Given the description of an element on the screen output the (x, y) to click on. 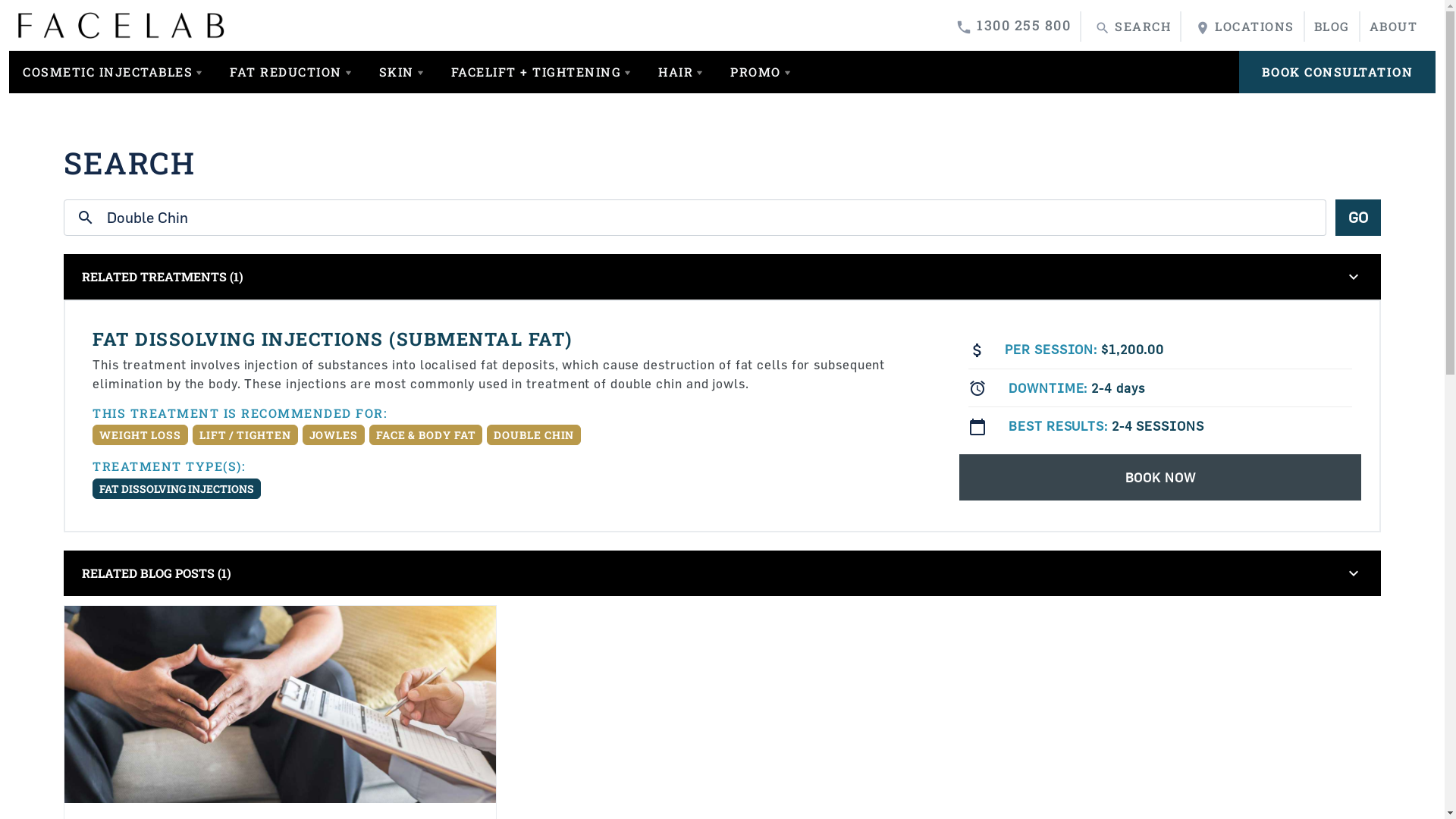
searchSEARCH Element type: text (1130, 26)
phone1300 255 800 Element type: text (1010, 25)
FAT REDUCTION Element type: text (290, 71)
PROMO Element type: text (760, 71)
COSMETIC INJECTABLES Element type: text (112, 71)
GO Element type: text (1357, 217)
RELATED TREATMENTS (1) Element type: text (694, 276)
FAT DISSOLVING INJECTIONS Element type: text (176, 488)
ABOUT Element type: text (1393, 26)
DOUBLE CHIN Element type: text (533, 433)
location_onLOCATIONS Element type: text (1242, 26)
FACE & BODY FAT Element type: text (426, 433)
JOWLES Element type: text (333, 433)
SKIN Element type: text (401, 71)
LIFT / TIGHTEN Element type: text (245, 433)
WEIGHT LOSS Element type: text (140, 433)
HAIR Element type: text (680, 71)
BOOK CONSULTATION Element type: text (1337, 71)
BLOG Element type: text (1331, 26)
RELATED BLOG POSTS (1) Element type: text (694, 573)
FACELIFT + TIGHTENING Element type: text (541, 71)
